Given the description of an element on the screen output the (x, y) to click on. 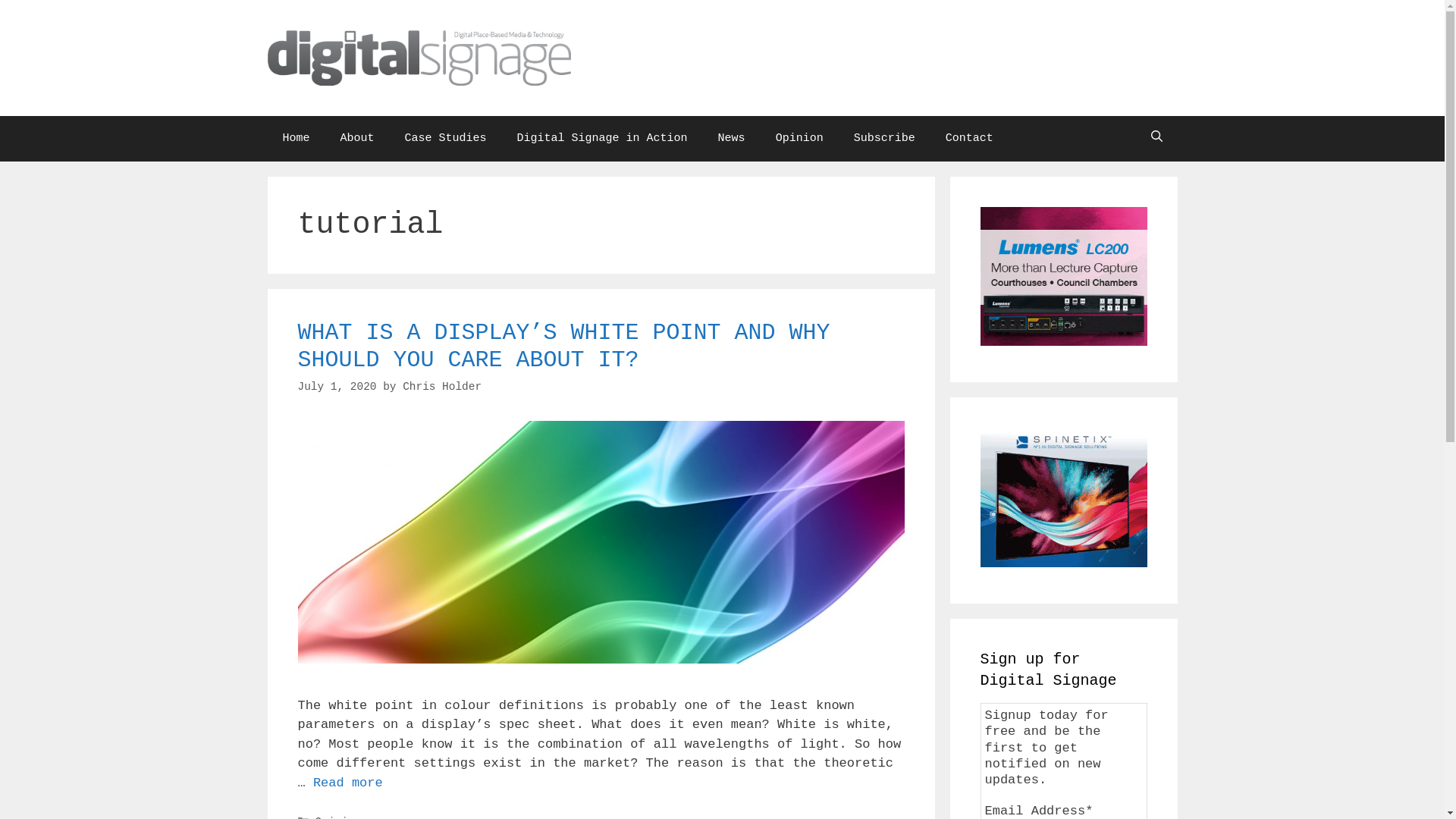
Opinion Element type: text (799, 138)
About Element type: text (357, 138)
Digital Signage in Action Element type: text (602, 138)
Home Element type: text (295, 138)
Case Studies Element type: text (445, 138)
Chris Holder Element type: text (441, 386)
Read more Element type: text (347, 782)
Contact Element type: text (969, 138)
Subscribe Element type: text (884, 138)
News Element type: text (731, 138)
